Given the description of an element on the screen output the (x, y) to click on. 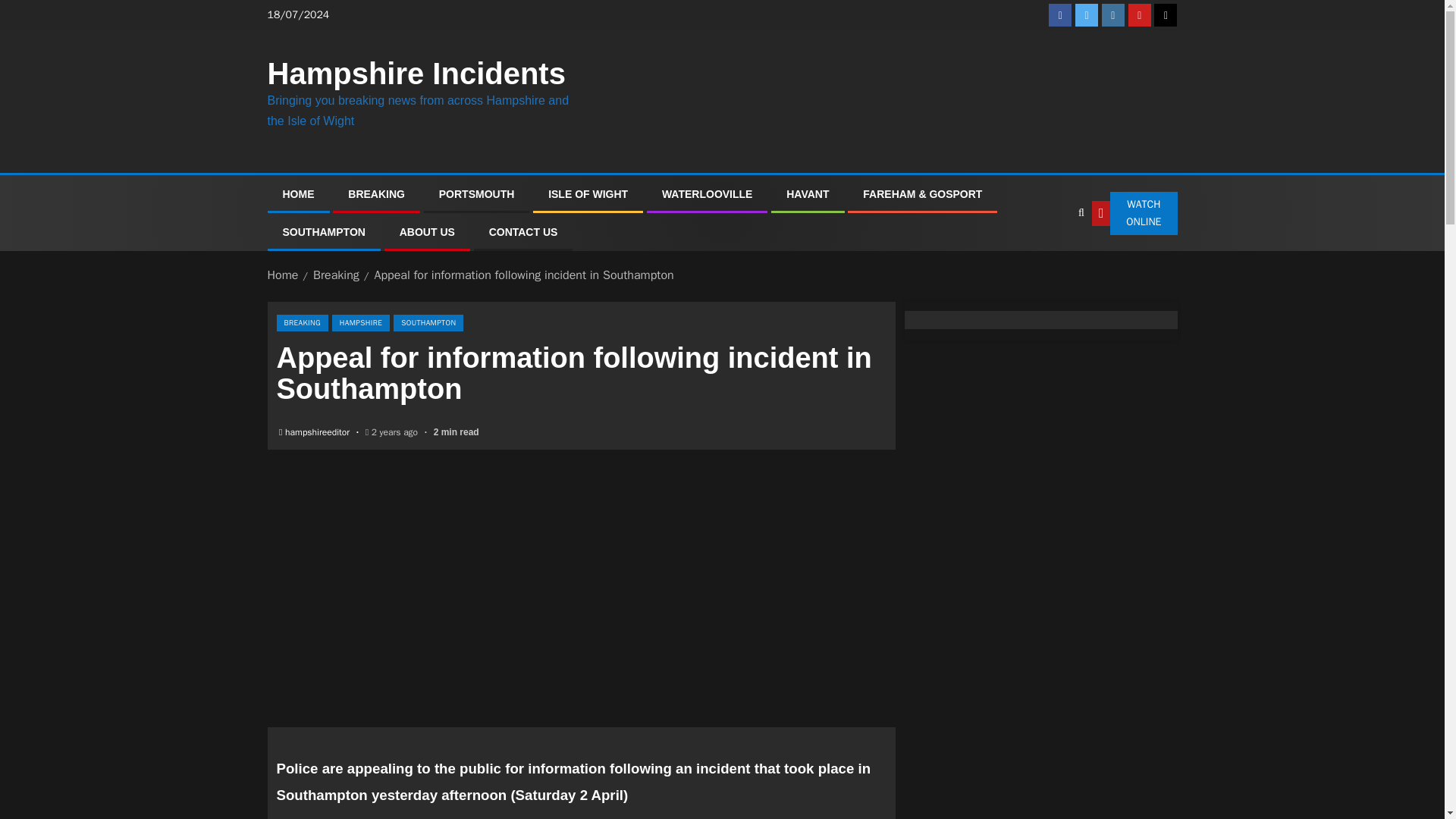
Hampshire Incidents (415, 73)
SOUTHAMPTON (323, 232)
CONTACT US (523, 232)
BREAKING (301, 322)
WATERLOOVILLE (707, 193)
PORTSMOUTH (477, 193)
Appeal for information following incident in Southampton (523, 274)
HAVANT (807, 193)
ABOUT US (426, 232)
HAMPSHIRE (360, 322)
BREAKING (375, 193)
ISLE OF WIGHT (587, 193)
Search (1080, 213)
HOME (298, 193)
Search (1049, 258)
